Given the description of an element on the screen output the (x, y) to click on. 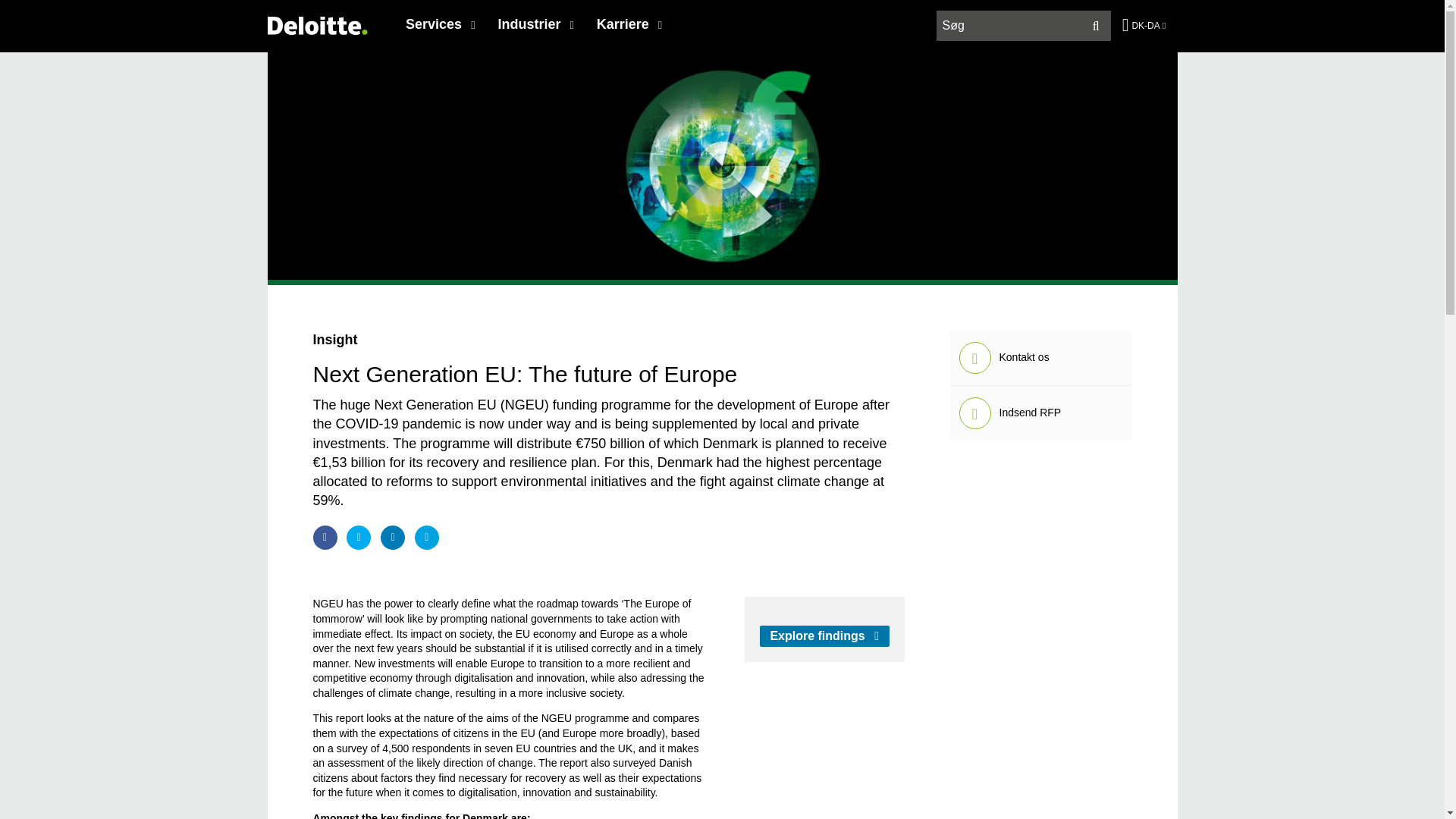
Industrier (535, 24)
Share via Email (426, 537)
Share via LinkedIn (392, 537)
Share via Twitter (358, 537)
Services (440, 24)
Deloitte Danmark (316, 25)
search (1024, 25)
Share via Facebook (324, 537)
